Given the description of an element on the screen output the (x, y) to click on. 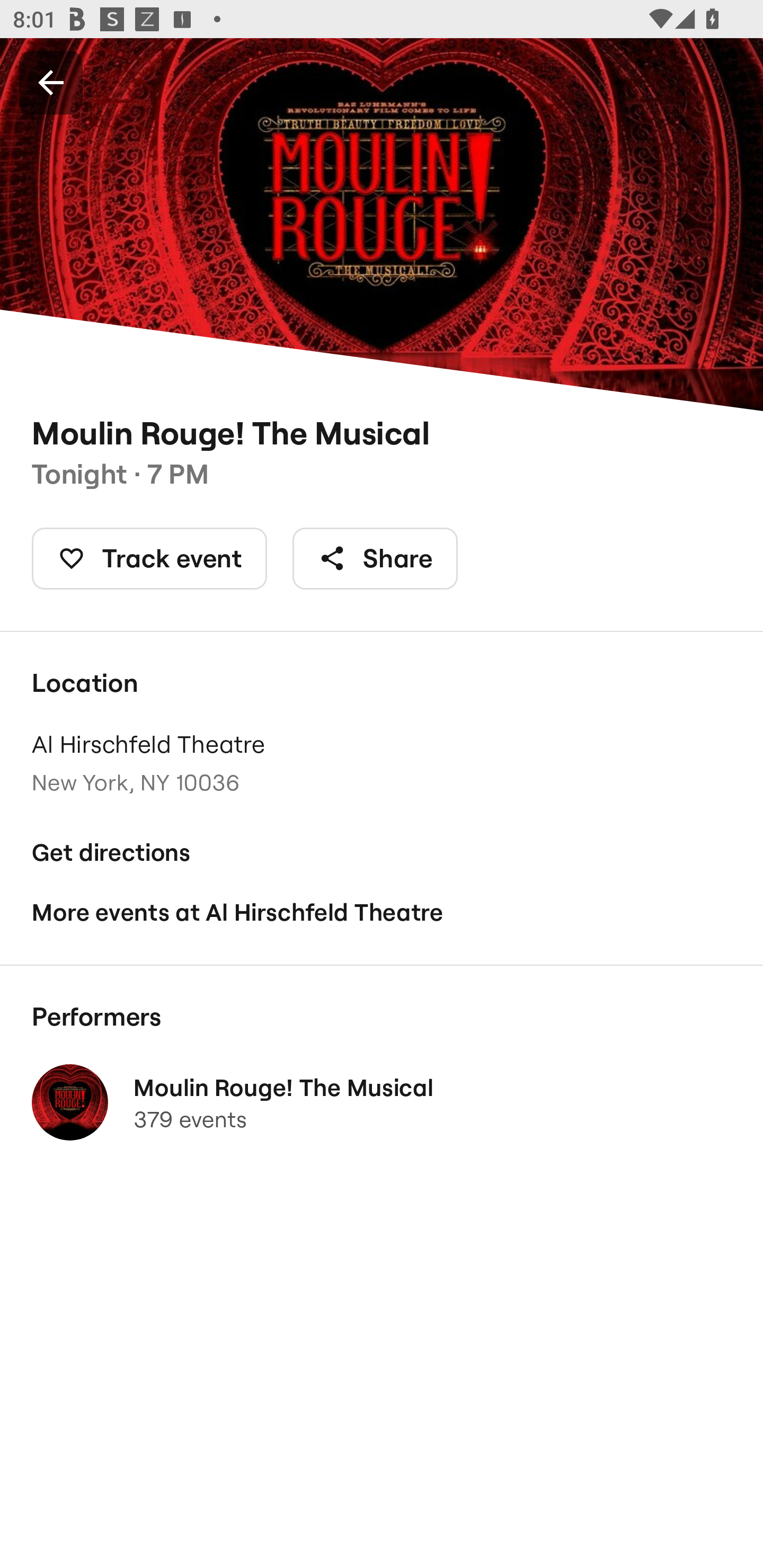
Back (50, 81)
Track event (149, 557)
Share (374, 557)
Get directions (381, 852)
More events at Al Hirschfeld Theatre (381, 912)
Moulin Rouge! The Musical 379 events (381, 1102)
